Given the description of an element on the screen output the (x, y) to click on. 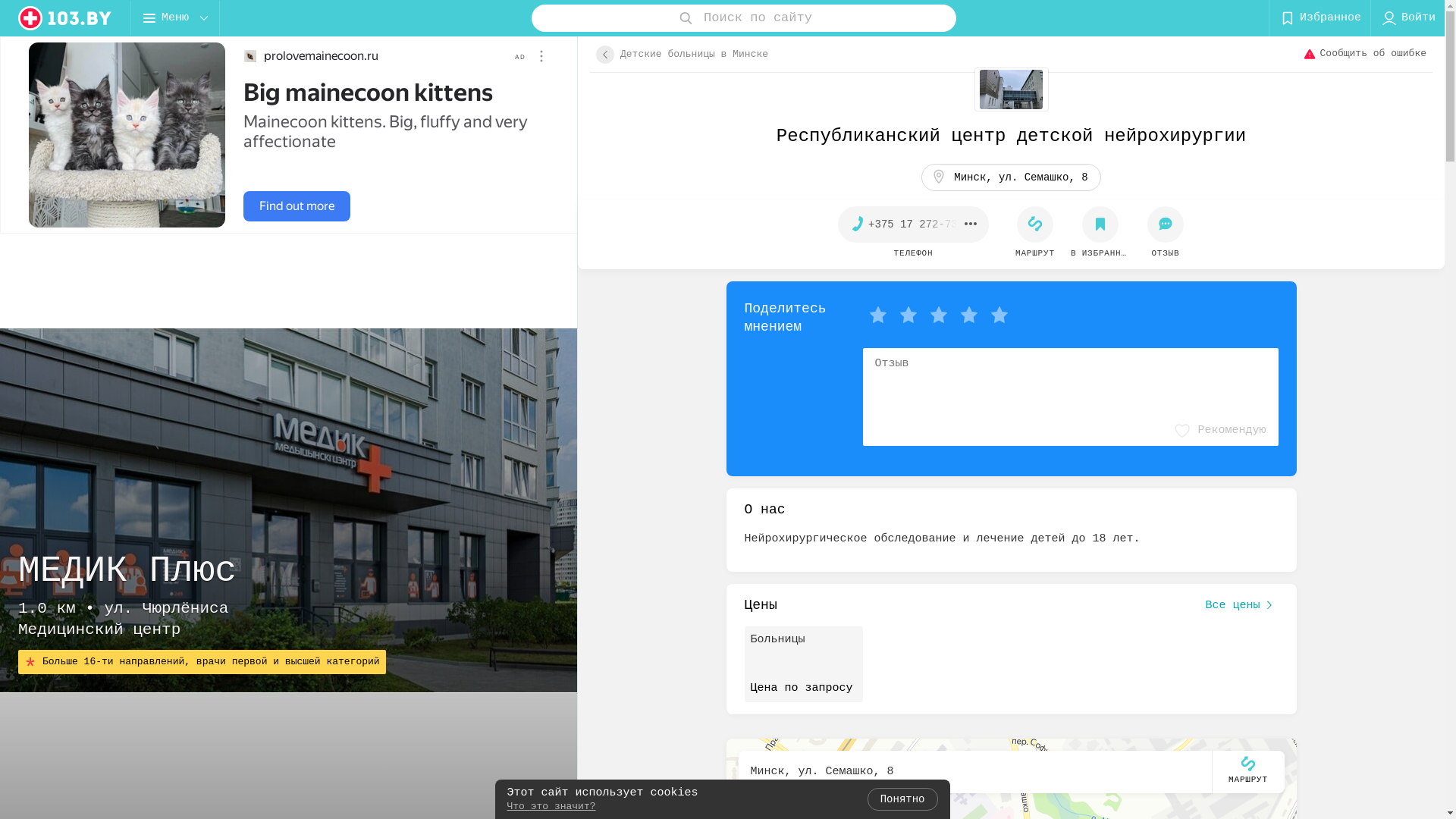
logo Element type: hover (65, 18)
